Given the description of an element on the screen output the (x, y) to click on. 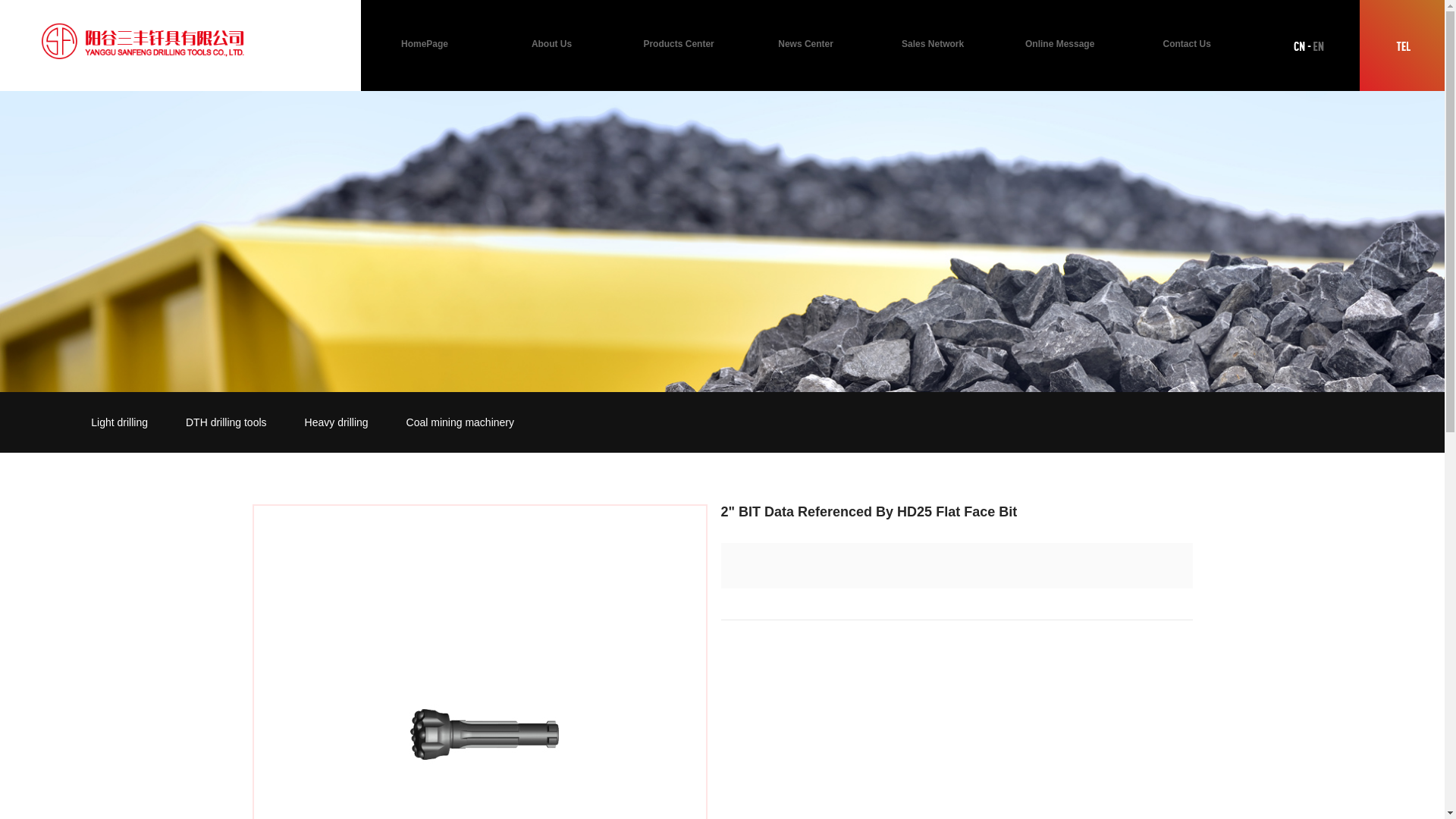
Coal mining machinery Element type: text (460, 422)
About Us Element type: text (551, 43)
Sales Network Element type: text (932, 43)
Light drilling Element type: text (119, 422)
DTH drilling tools Element type: text (225, 422)
HomePage Element type: text (424, 43)
Products Center Element type: text (678, 43)
Heavy drilling Element type: text (336, 422)
News Center Element type: text (805, 43)
Contact Us Element type: text (1186, 43)
website Element type: hover (722, 241)
Online Message Element type: text (1059, 43)
